Given the description of an element on the screen output the (x, y) to click on. 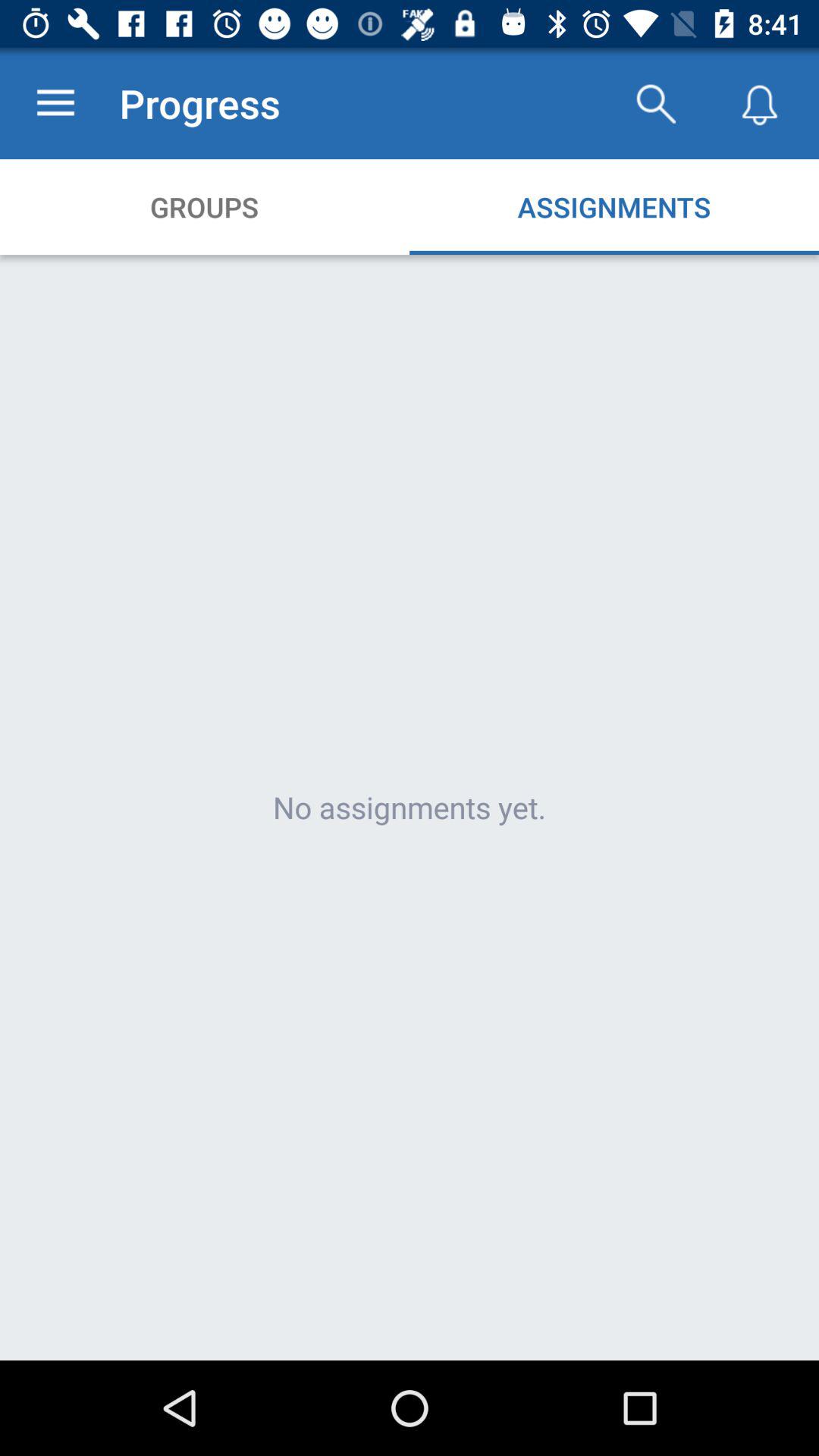
open the icon above the no assignments yet. icon (55, 103)
